Given the description of an element on the screen output the (x, y) to click on. 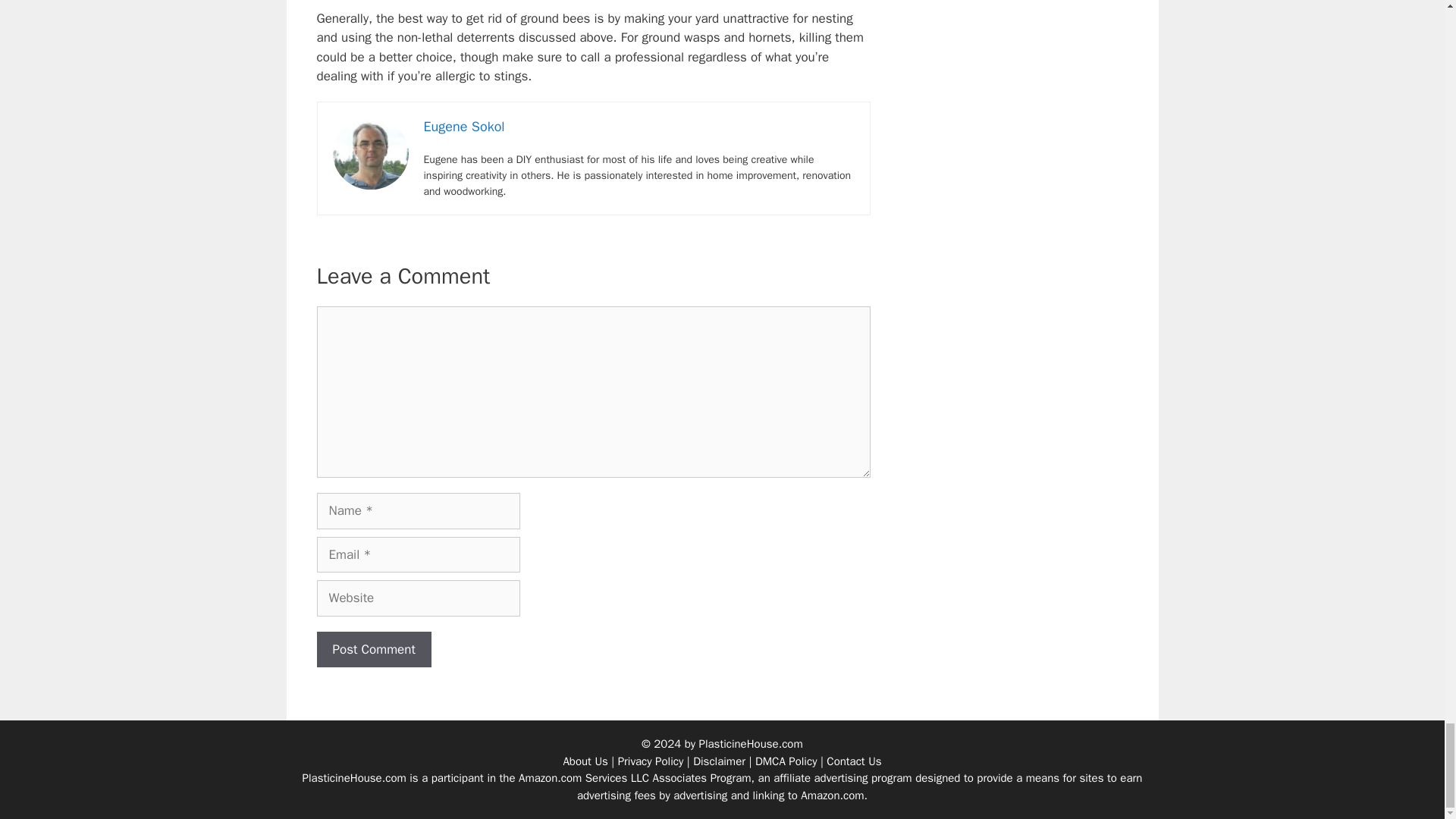
Post Comment (373, 649)
